Given the description of an element on the screen output the (x, y) to click on. 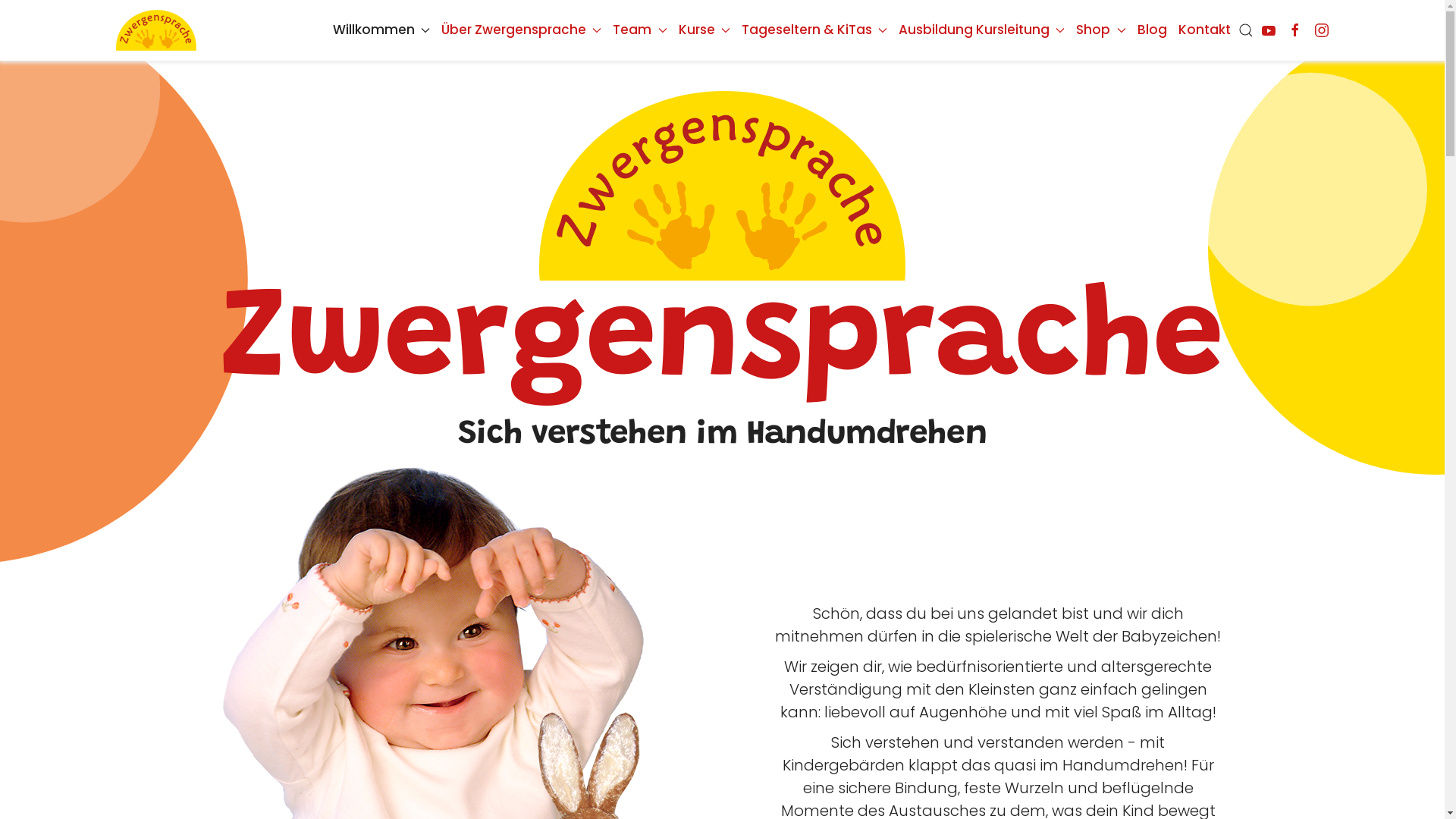
Shop Element type: text (1100, 30)
Kurse Element type: text (703, 30)
Ausbildung Kursleitung Element type: text (981, 30)
Team Element type: text (639, 30)
Tageseltern & KiTas Element type: text (814, 30)
Blog Element type: text (1152, 30)
Kontakt Element type: text (1204, 30)
Willkommen Element type: text (380, 30)
